Given the description of an element on the screen output the (x, y) to click on. 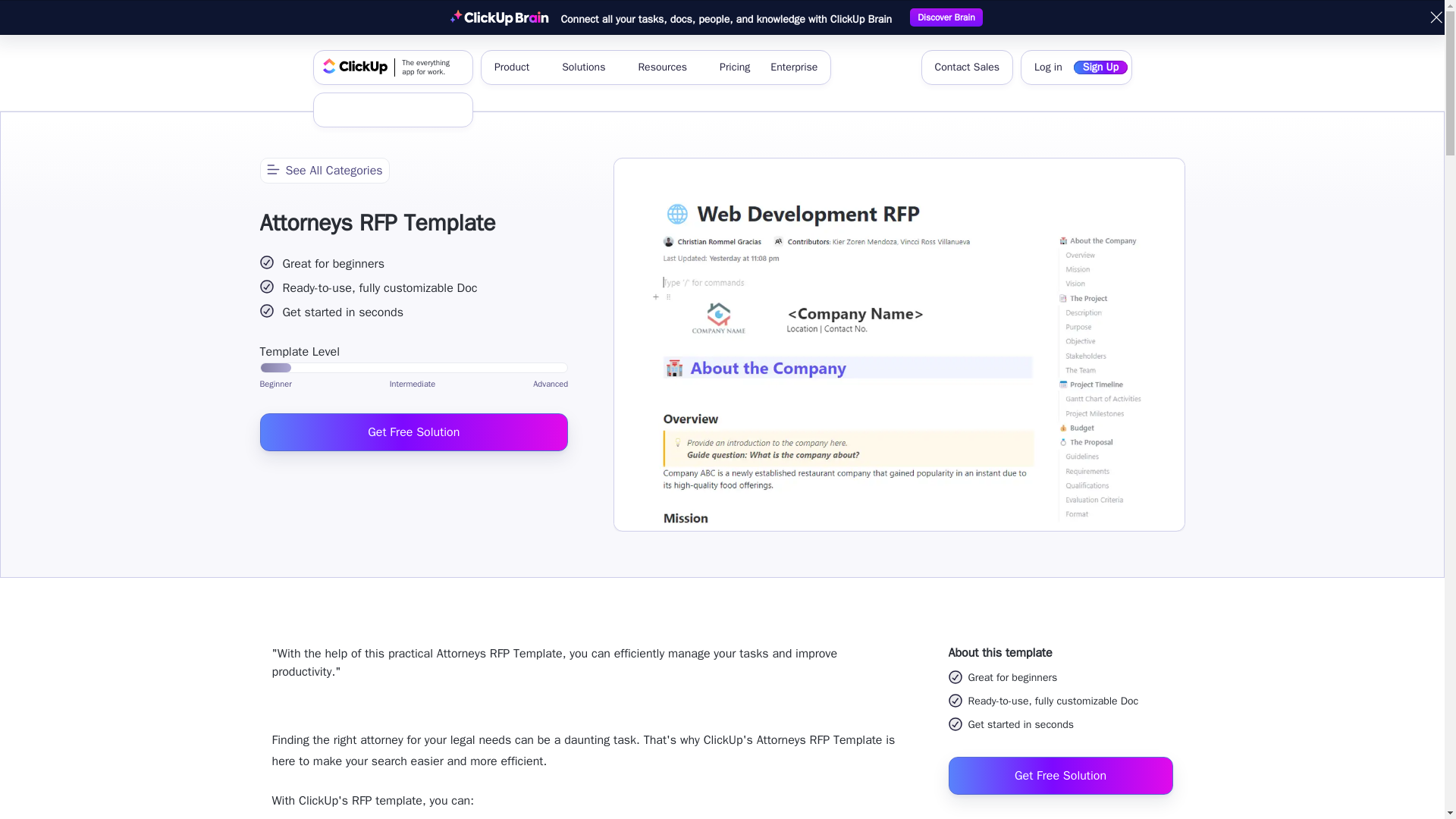
Contact Sales (966, 67)
Discover Brain (945, 17)
Enterprise (794, 67)
Log in (1048, 67)
Resources (667, 67)
Solutions (589, 67)
Open mobile Menu (429, 109)
Close banner (393, 67)
Pricing (1435, 17)
